Given the description of an element on the screen output the (x, y) to click on. 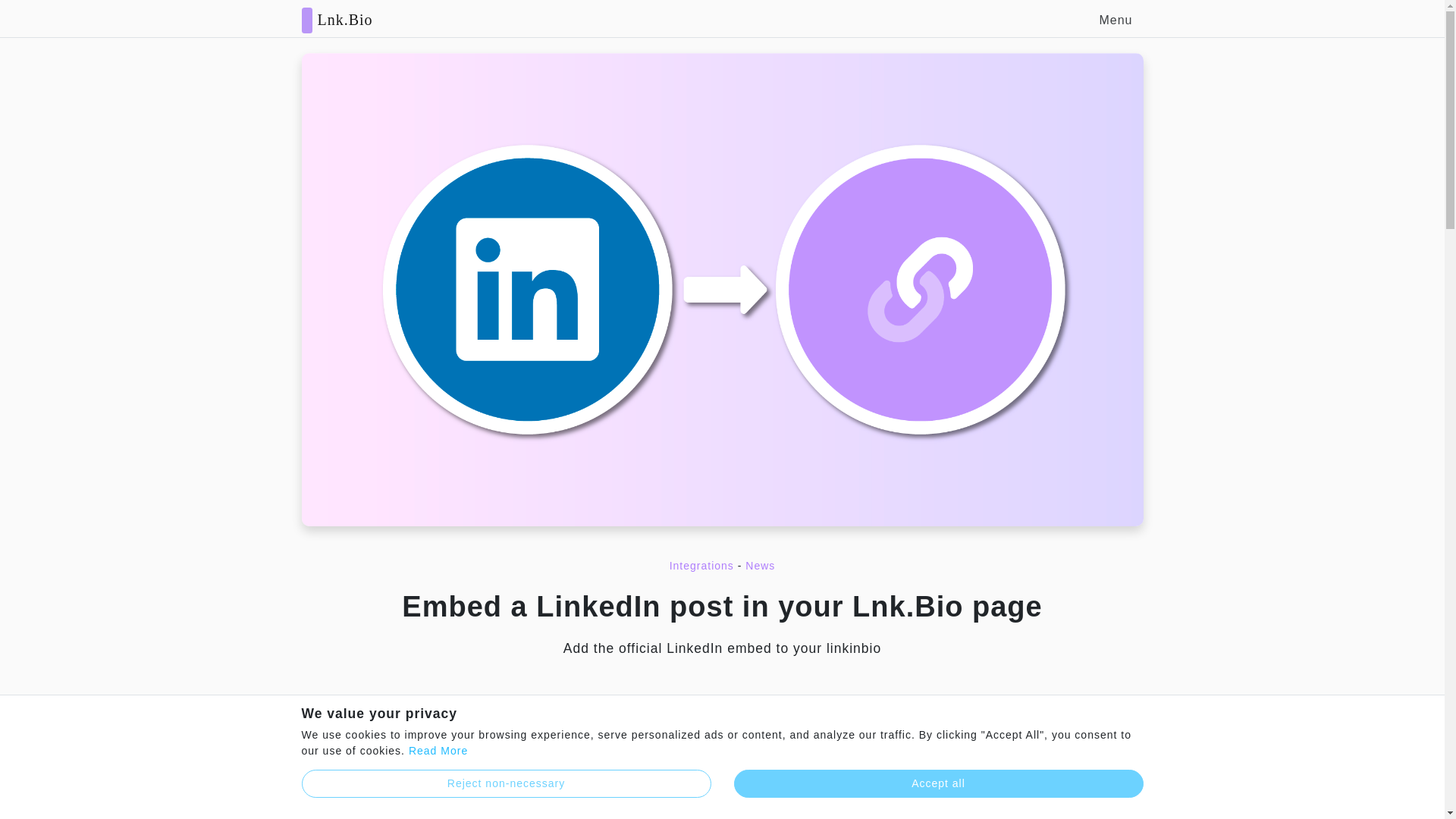
Lnk.Bio (336, 18)
Integrations (701, 565)
News (759, 565)
Lnk.Bio Link in Bio (336, 18)
